Given the description of an element on the screen output the (x, y) to click on. 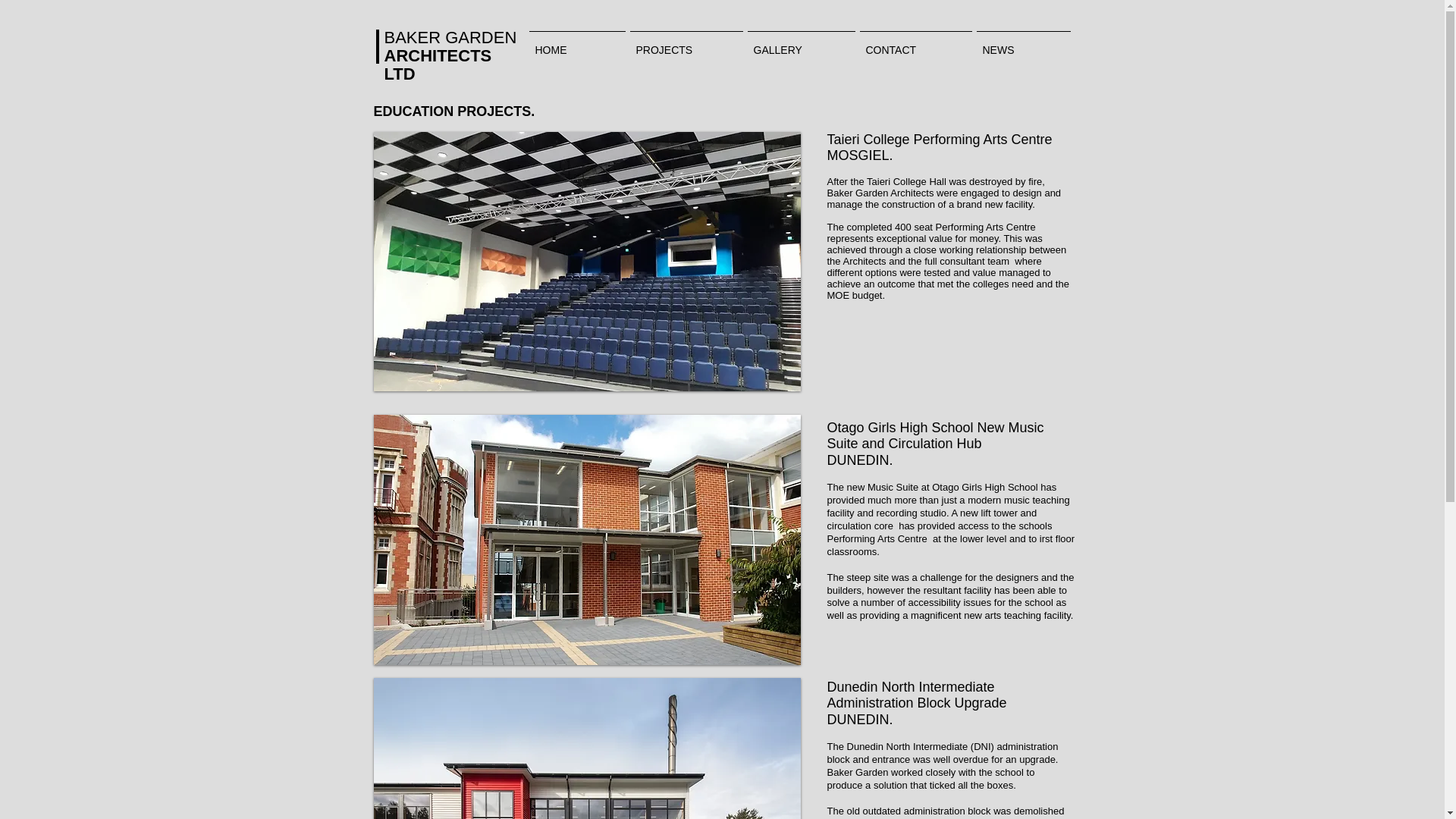
GALLERY (800, 43)
HOME (576, 43)
PROJECTS (686, 43)
NEWS (1022, 43)
CONTACT (915, 43)
